Given the description of an element on the screen output the (x, y) to click on. 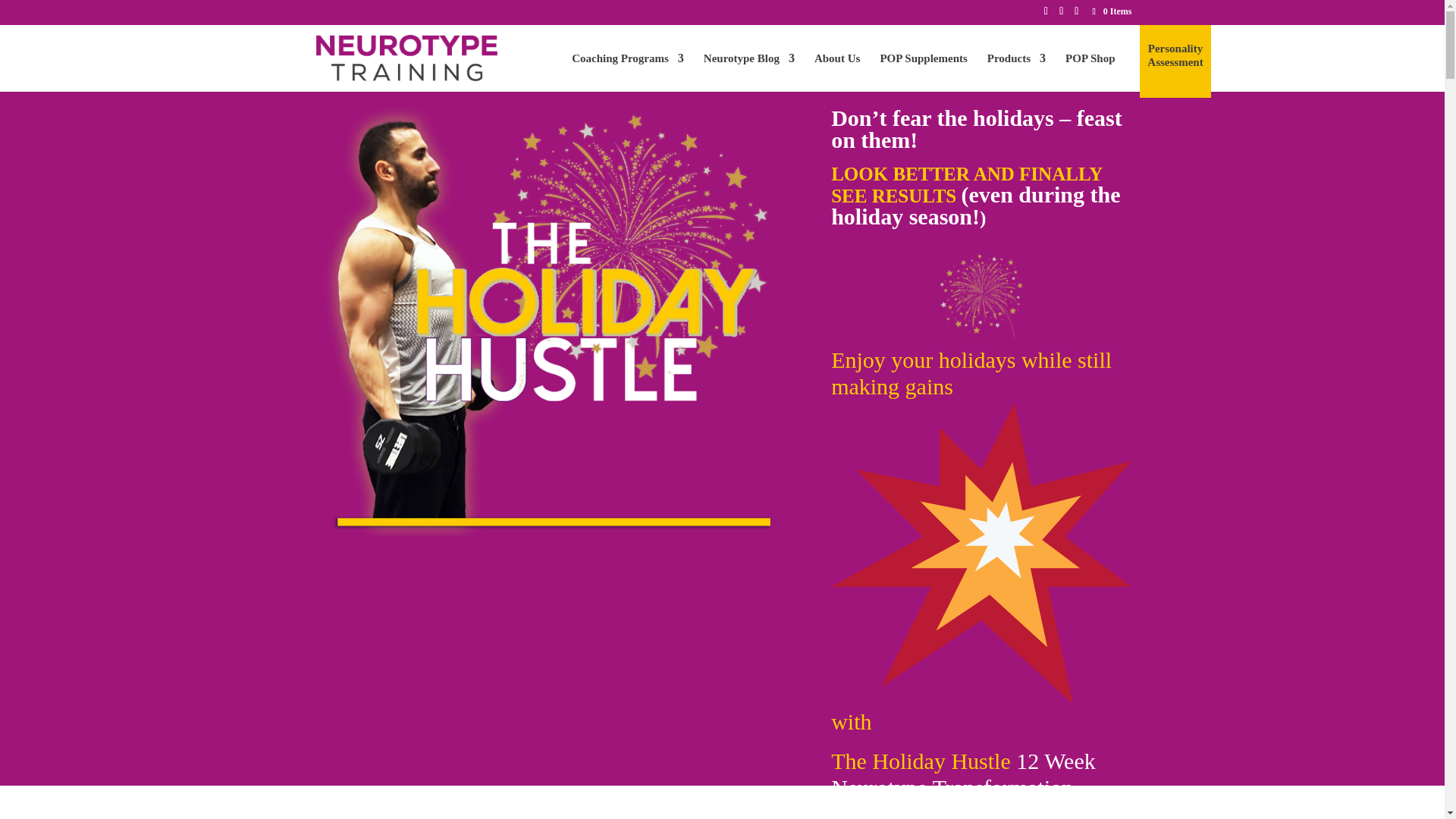
Coaching Programs (628, 71)
Personality Assessment (1174, 68)
Products (1016, 71)
0 Items (1111, 10)
POP Supplements (922, 71)
POP Shop (1090, 71)
About Us (836, 71)
Neurotype Blog (748, 71)
